Given the description of an element on the screen output the (x, y) to click on. 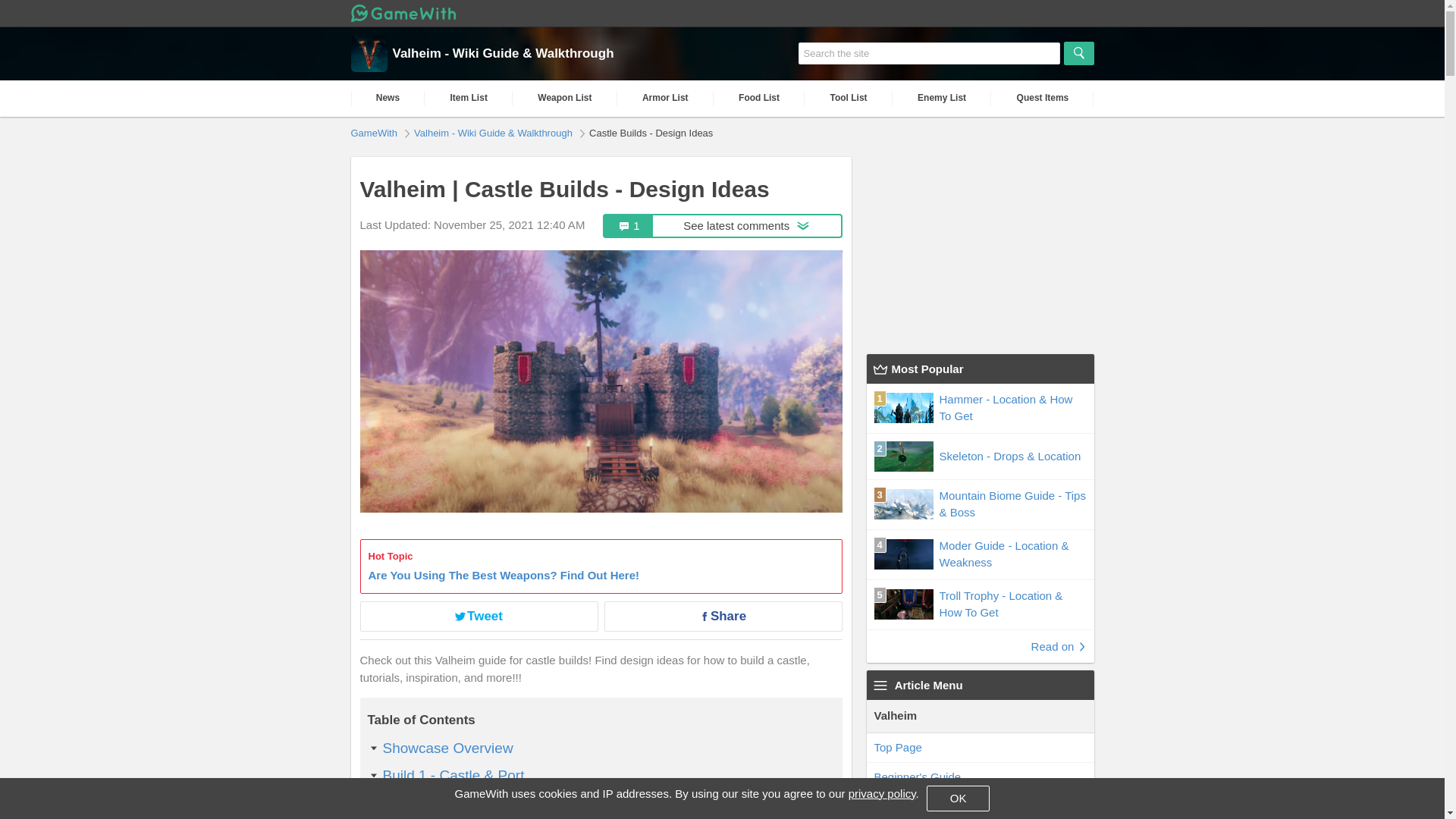
privacy policy (881, 793)
Showcase Overview (446, 747)
Tweet (477, 616)
Build 2 - Mountain Castle (462, 802)
News (387, 98)
Quest Items (600, 565)
Share (721, 225)
Weapon List (1042, 98)
